Given the description of an element on the screen output the (x, y) to click on. 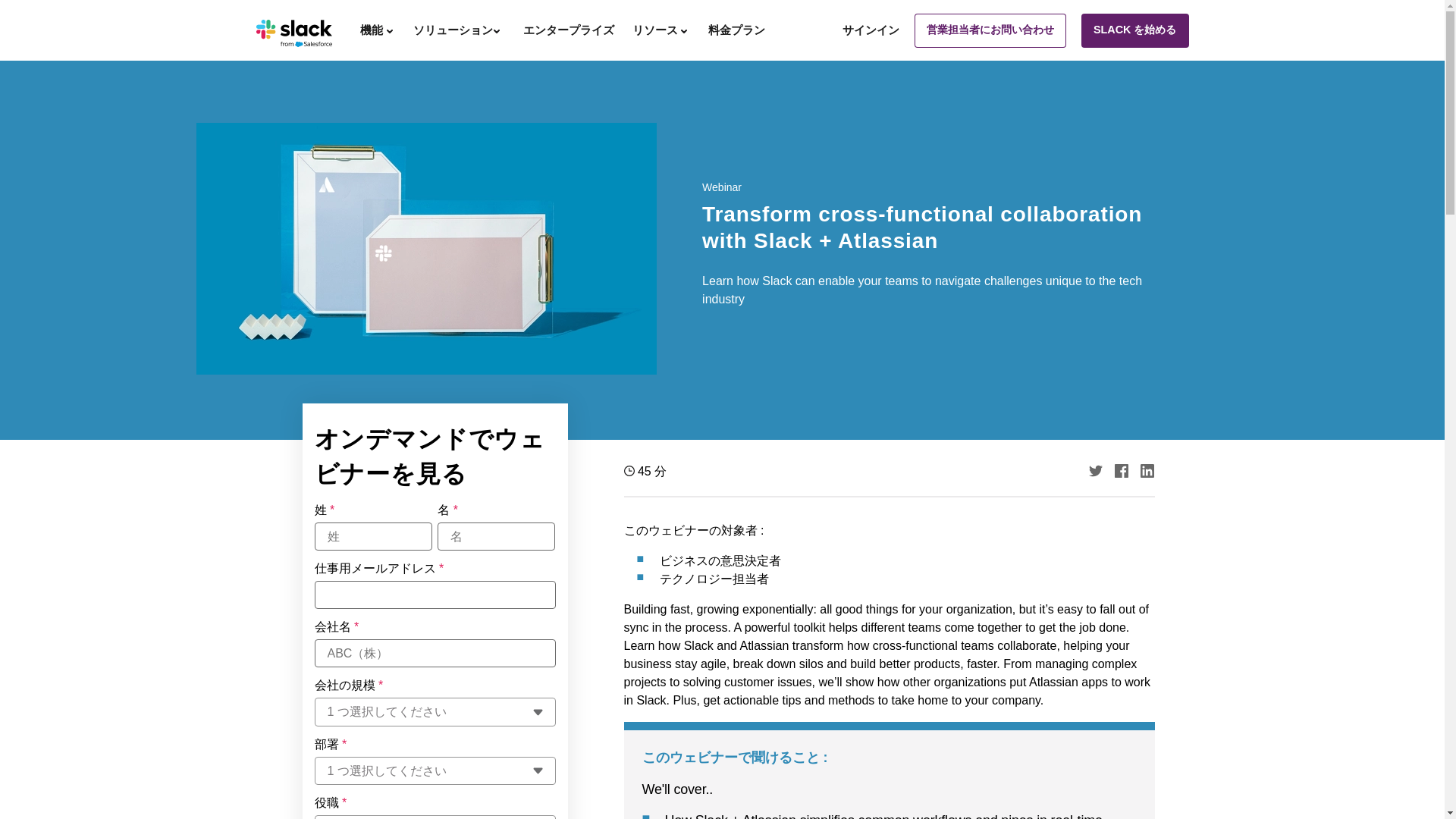
Twitter (1095, 470)
Facebook (1121, 470)
LinkedIn (1147, 470)
